Given the description of an element on the screen output the (x, y) to click on. 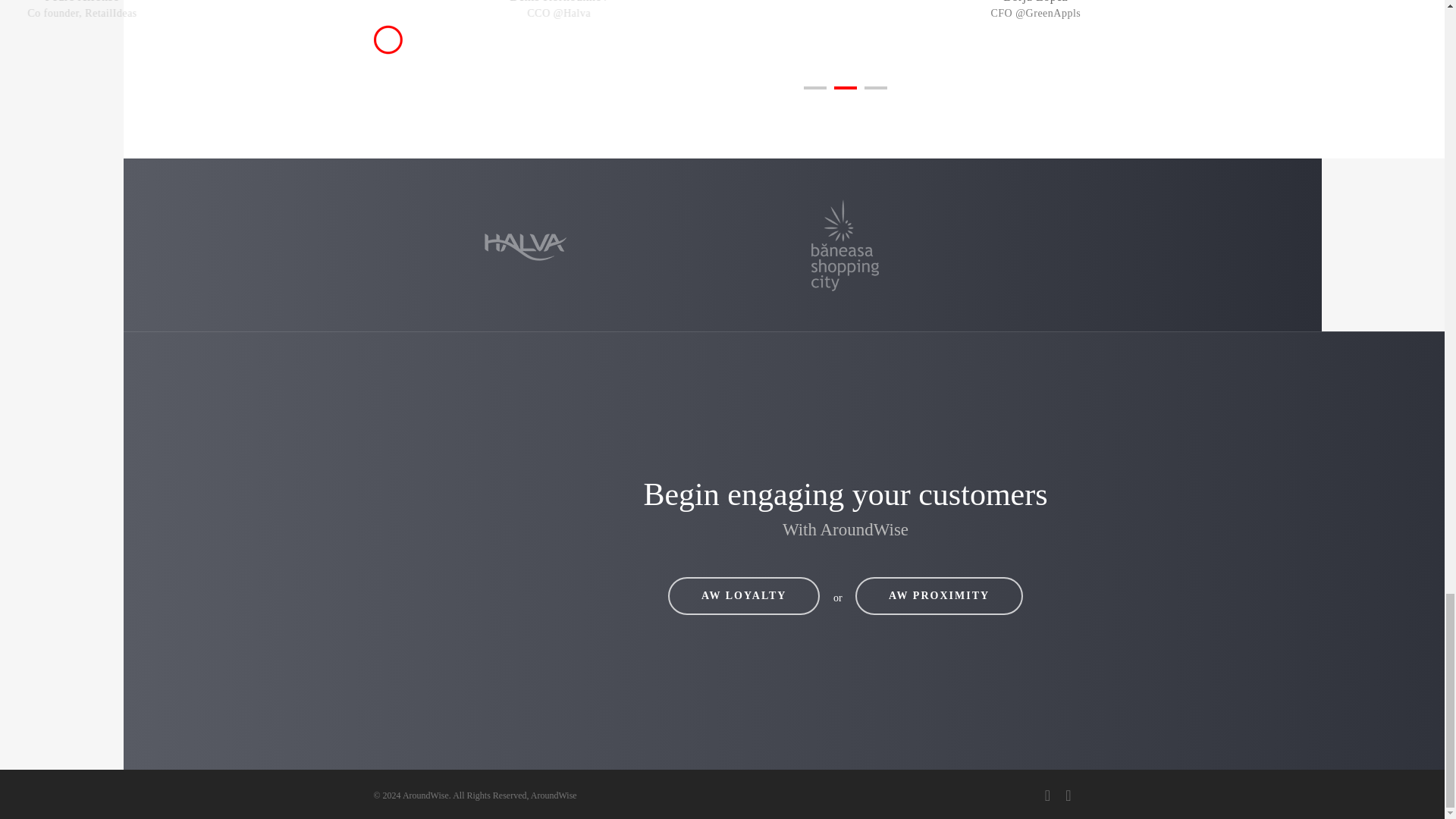
AW LOYALTY (743, 596)
AW PROXIMITY (939, 596)
